Given the description of an element on the screen output the (x, y) to click on. 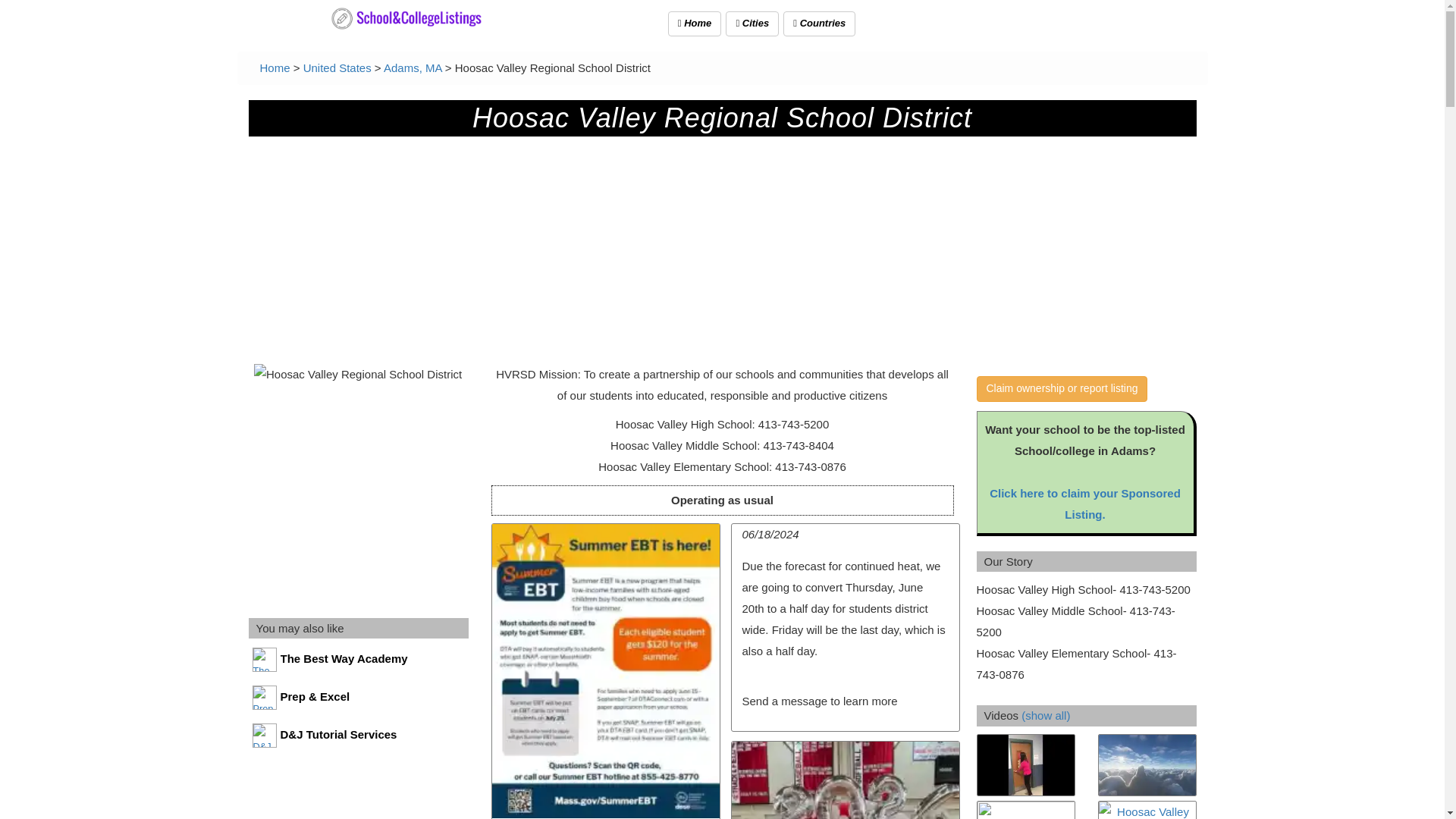
Home (274, 67)
Countries (819, 23)
Adams, MA (413, 67)
Home (274, 67)
Click here to claim your Sponsored Listing. (1085, 503)
United States (336, 67)
Cities (751, 23)
The Best Way Academy (358, 662)
Home (694, 23)
Claim ownership or report listing (1062, 388)
